Given the description of an element on the screen output the (x, y) to click on. 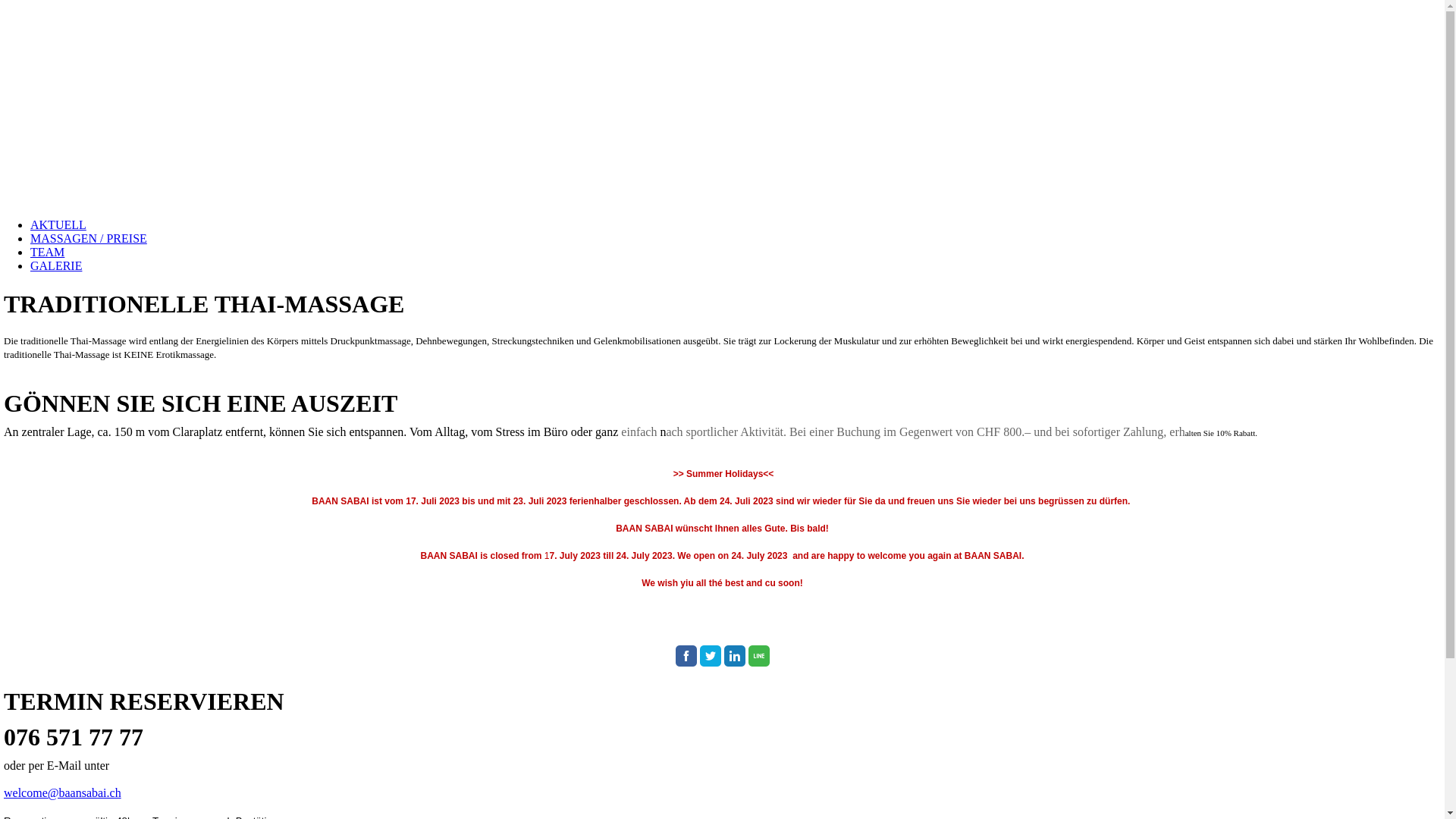
MASSAGEN / PREISE Element type: text (88, 238)
LinkedIn Element type: hover (733, 655)
Twitter Element type: hover (709, 655)
Line Element type: hover (757, 655)
TEAM Element type: text (47, 251)
AKTUELL Element type: text (58, 224)
GALERIE Element type: text (55, 265)
welcome@baansabai.ch Element type: text (62, 792)
Facebook Element type: hover (685, 655)
